Given the description of an element on the screen output the (x, y) to click on. 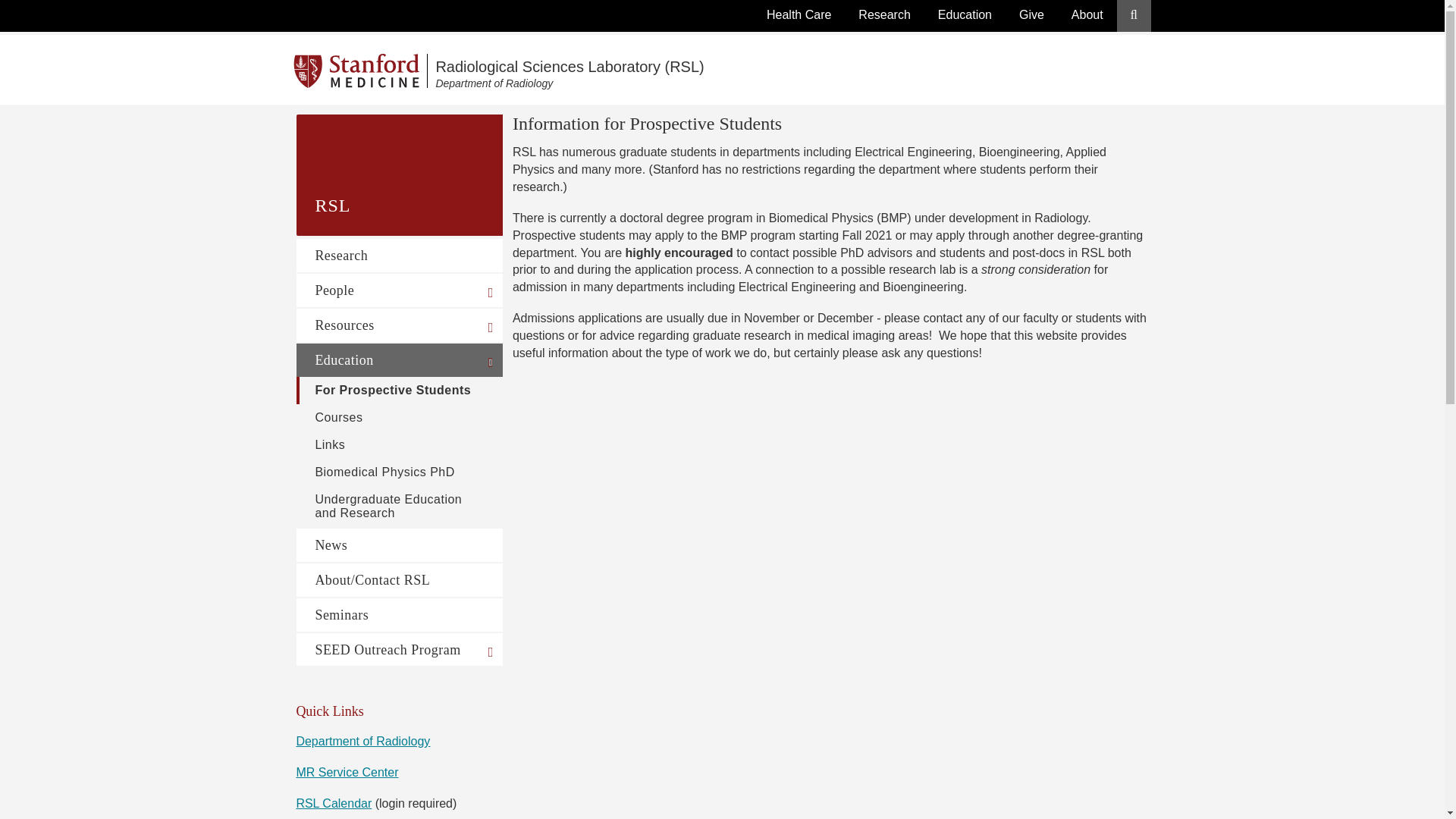
Stanford Medicine (361, 70)
